Given the description of an element on the screen output the (x, y) to click on. 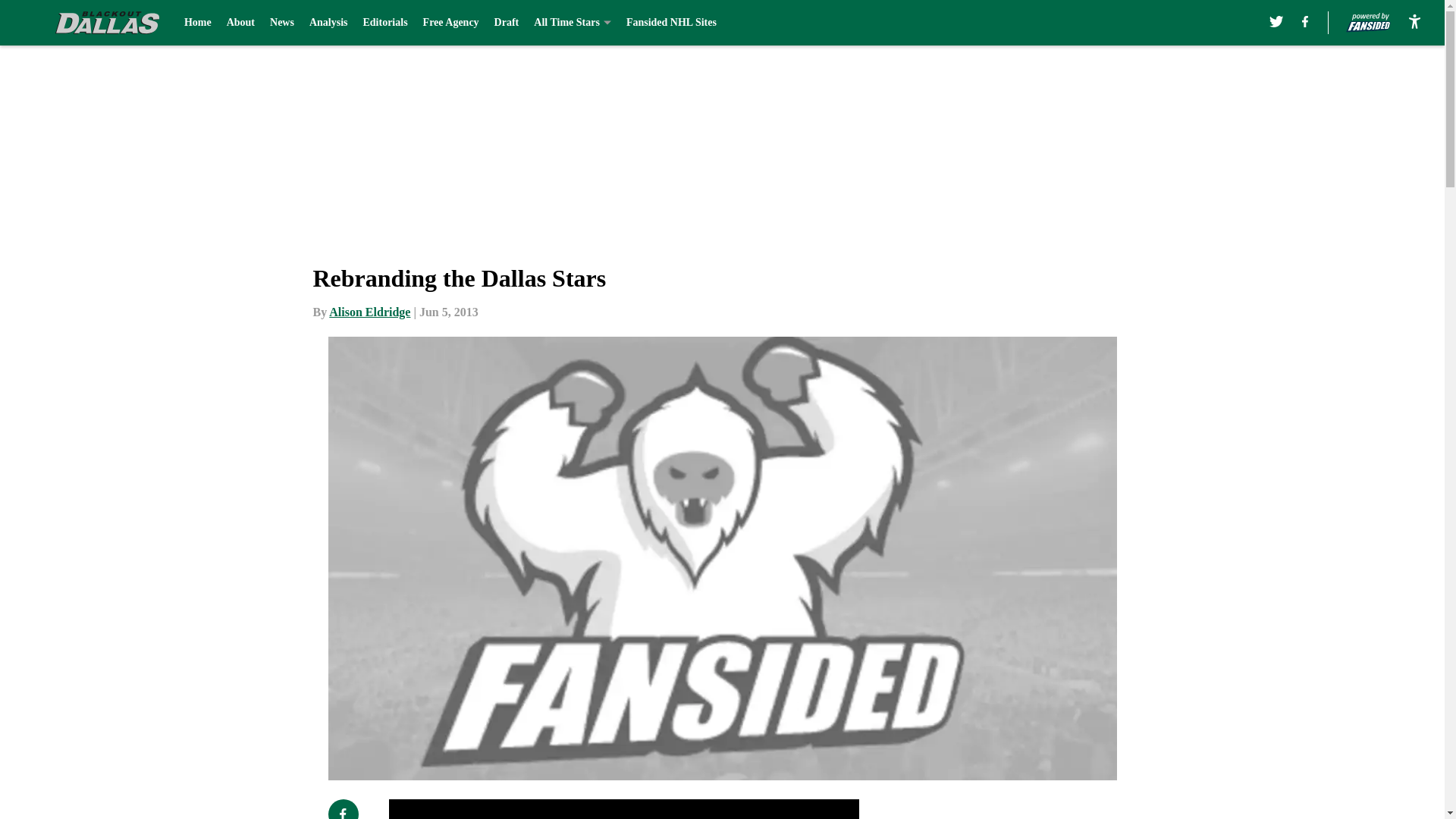
Draft (507, 22)
News (281, 22)
Free Agency (451, 22)
Editorials (384, 22)
Home (197, 22)
Alison Eldridge (369, 311)
Analysis (327, 22)
About (240, 22)
Fansided NHL Sites (671, 22)
